Given the description of an element on the screen output the (x, y) to click on. 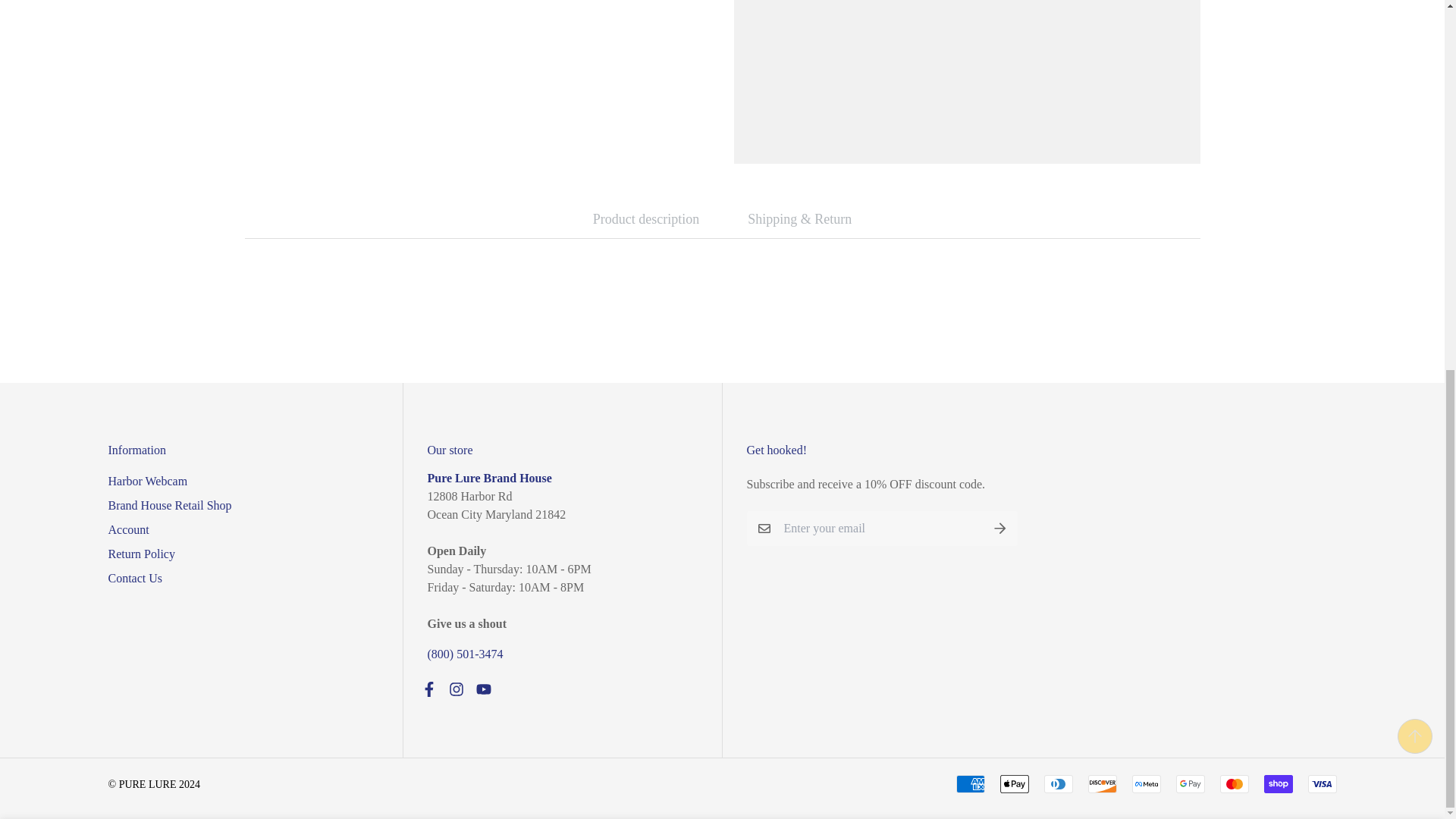
PURE LURE BRAND HOUSE IS OPEN! (489, 477)
1 (1012, 176)
